Given the description of an element on the screen output the (x, y) to click on. 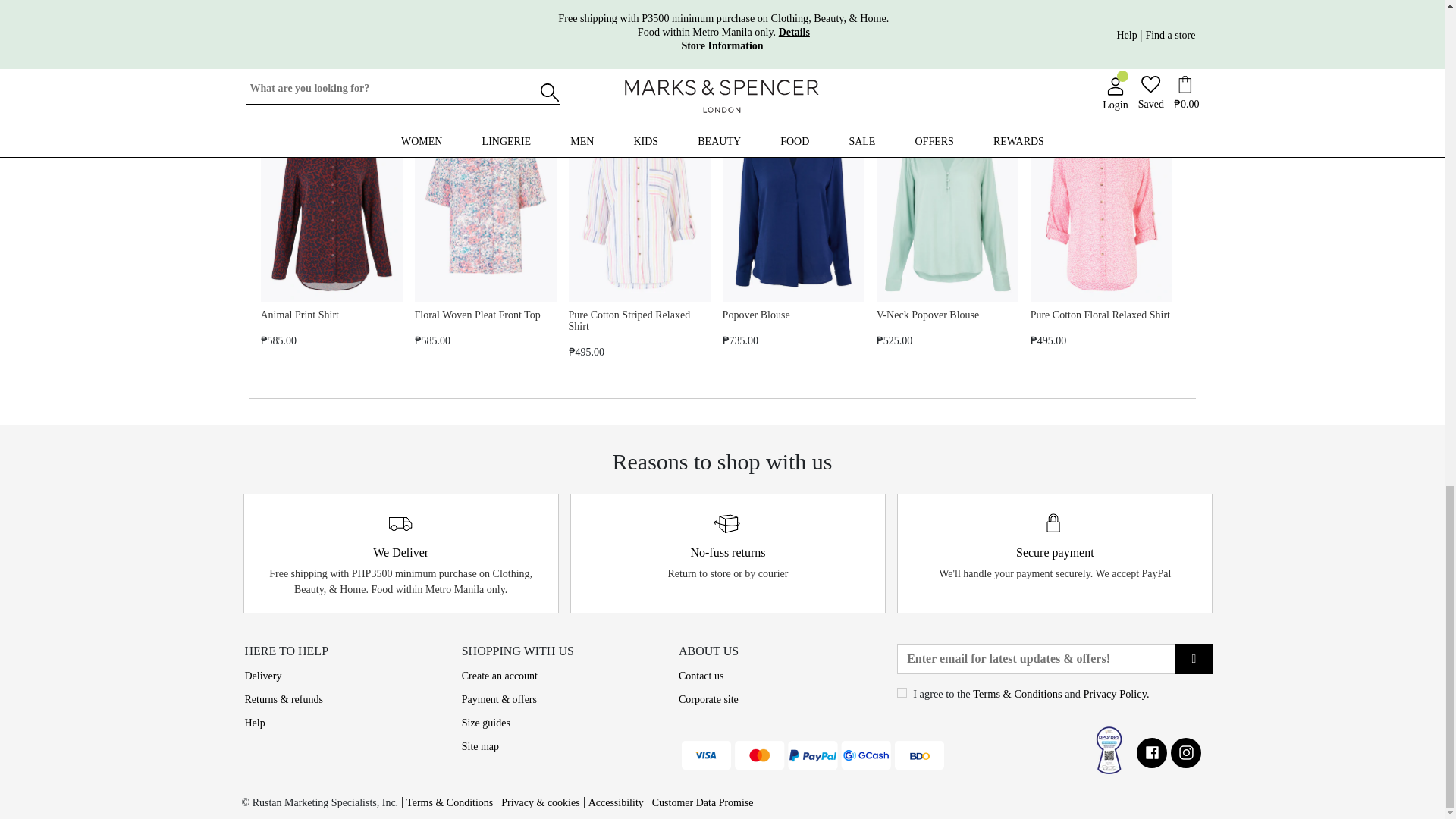
on (901, 692)
